Given the description of an element on the screen output the (x, y) to click on. 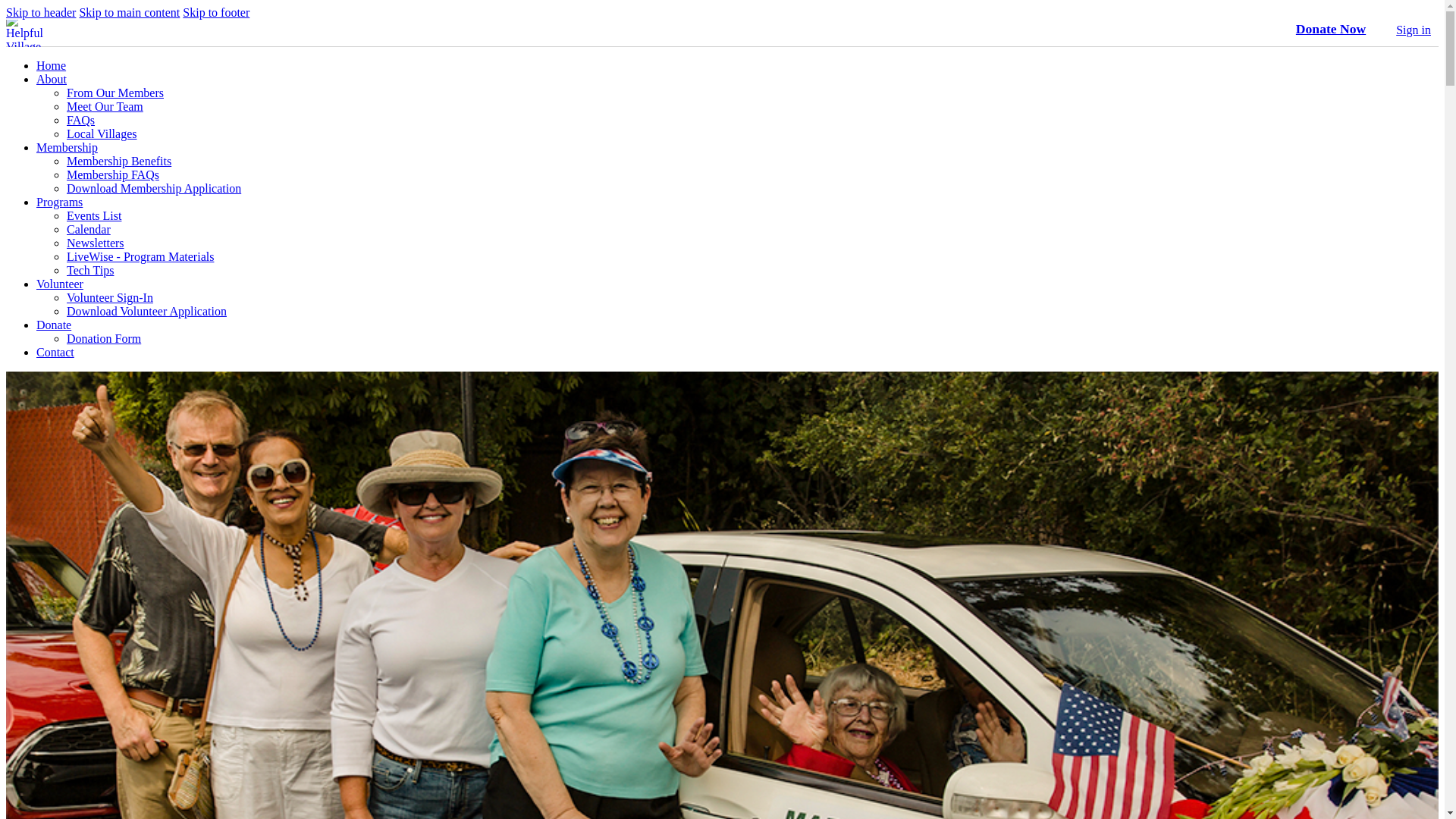
Membership (66, 146)
Local Villages (101, 133)
Skip to header (40, 11)
Donation Form (103, 338)
FAQs (80, 119)
Skip to footer (215, 11)
Membership Benefits (118, 160)
Newsletters (94, 242)
Programs (59, 201)
Skip to main content (128, 11)
Donate Now (1330, 28)
Tech Tips (89, 269)
Calendar (88, 228)
Donate (53, 324)
Download Membership Application (153, 187)
